Given the description of an element on the screen output the (x, y) to click on. 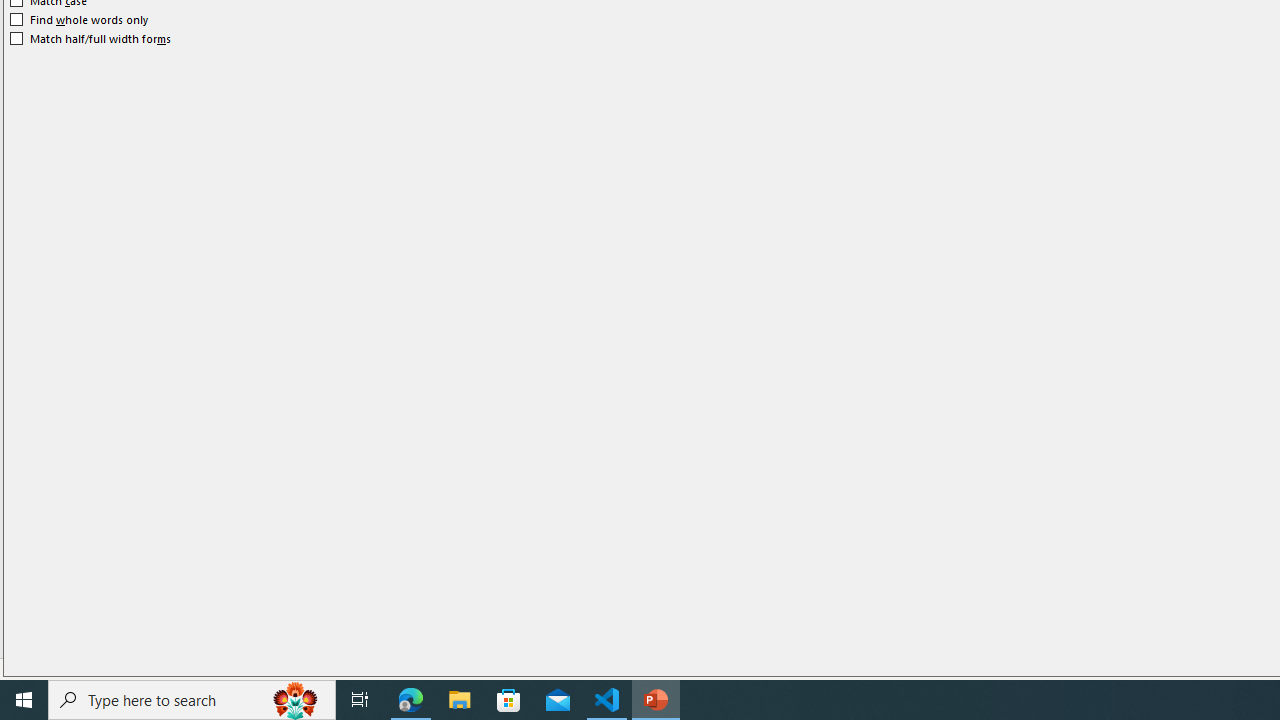
Find whole words only (79, 20)
Match half/full width forms (91, 38)
